Given the description of an element on the screen output the (x, y) to click on. 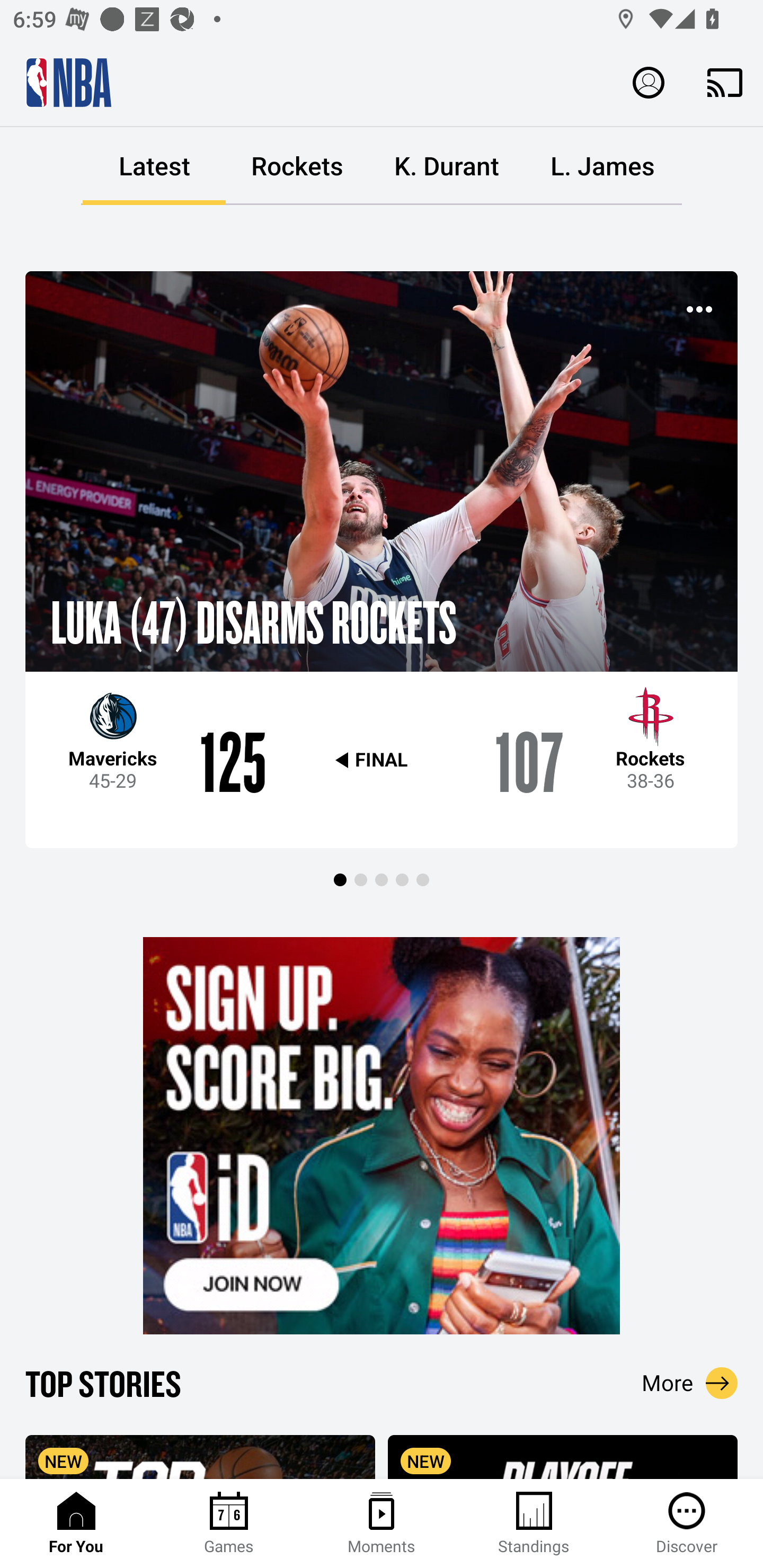
Cast. Disconnected (724, 82)
Profile (648, 81)
Rockets (296, 166)
K. Durant (446, 166)
L. James (602, 166)
More (689, 1382)
Games (228, 1523)
Moments (381, 1523)
Standings (533, 1523)
Discover (686, 1523)
